Given the description of an element on the screen output the (x, y) to click on. 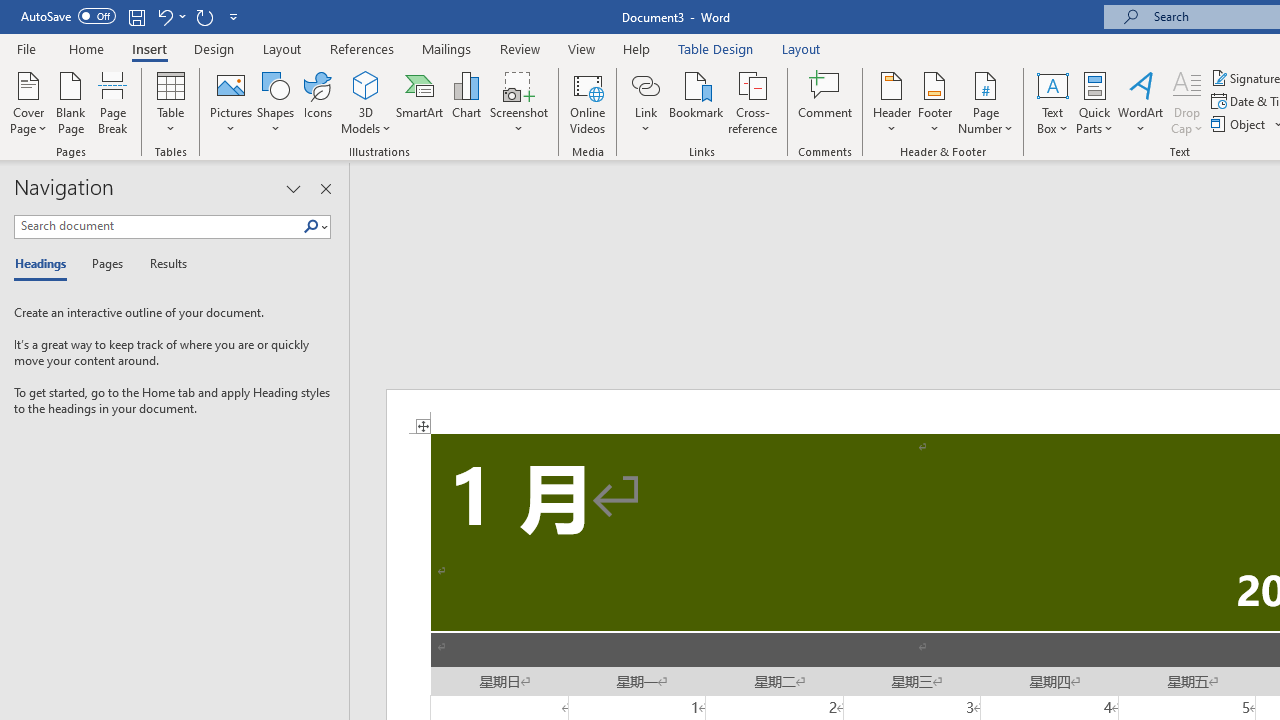
Header (891, 102)
Blank Page (70, 102)
Page Number (986, 102)
Cover Page (28, 102)
Object... (1240, 124)
Undo Increase Indent (164, 15)
Page Break (113, 102)
Table (170, 102)
Headings (45, 264)
Cross-reference... (752, 102)
Pages (105, 264)
